Given the description of an element on the screen output the (x, y) to click on. 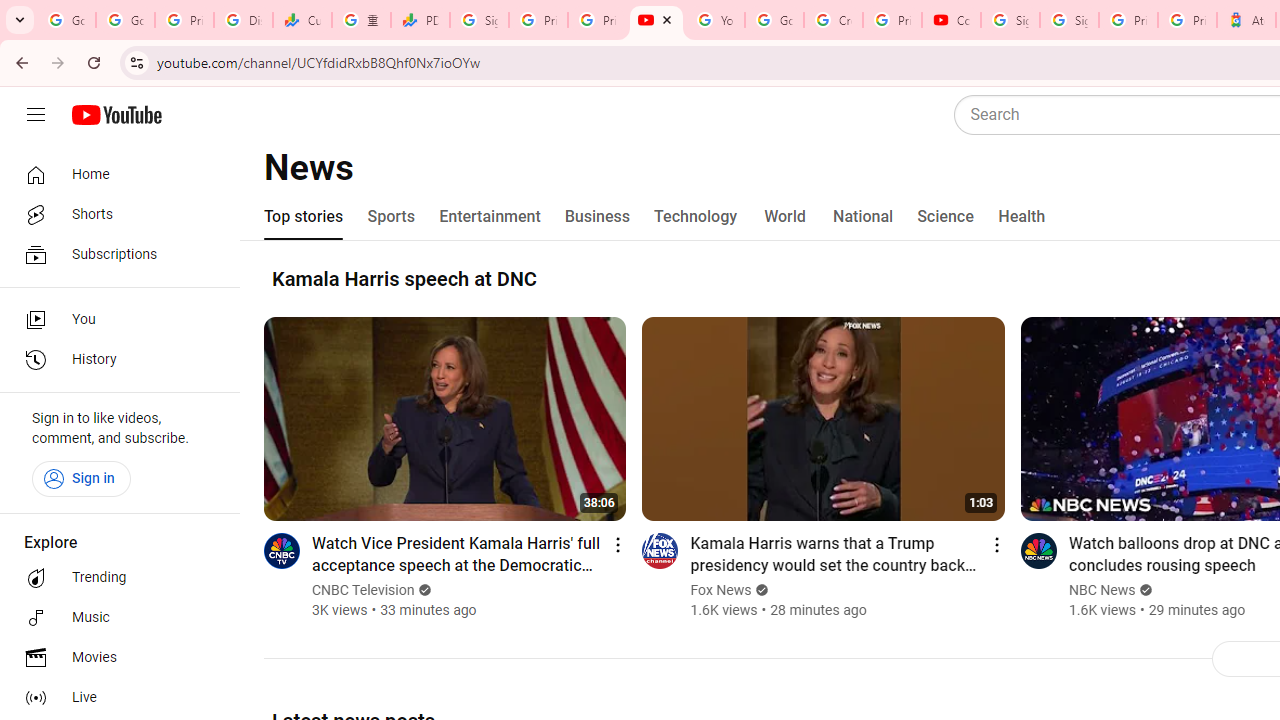
Create your Google Account (832, 20)
YouTube (656, 20)
Sign in - Google Accounts (1069, 20)
Google Account Help (774, 20)
Content Creator Programs & Opportunities - YouTube Creators (950, 20)
Home (113, 174)
